Given the description of an element on the screen output the (x, y) to click on. 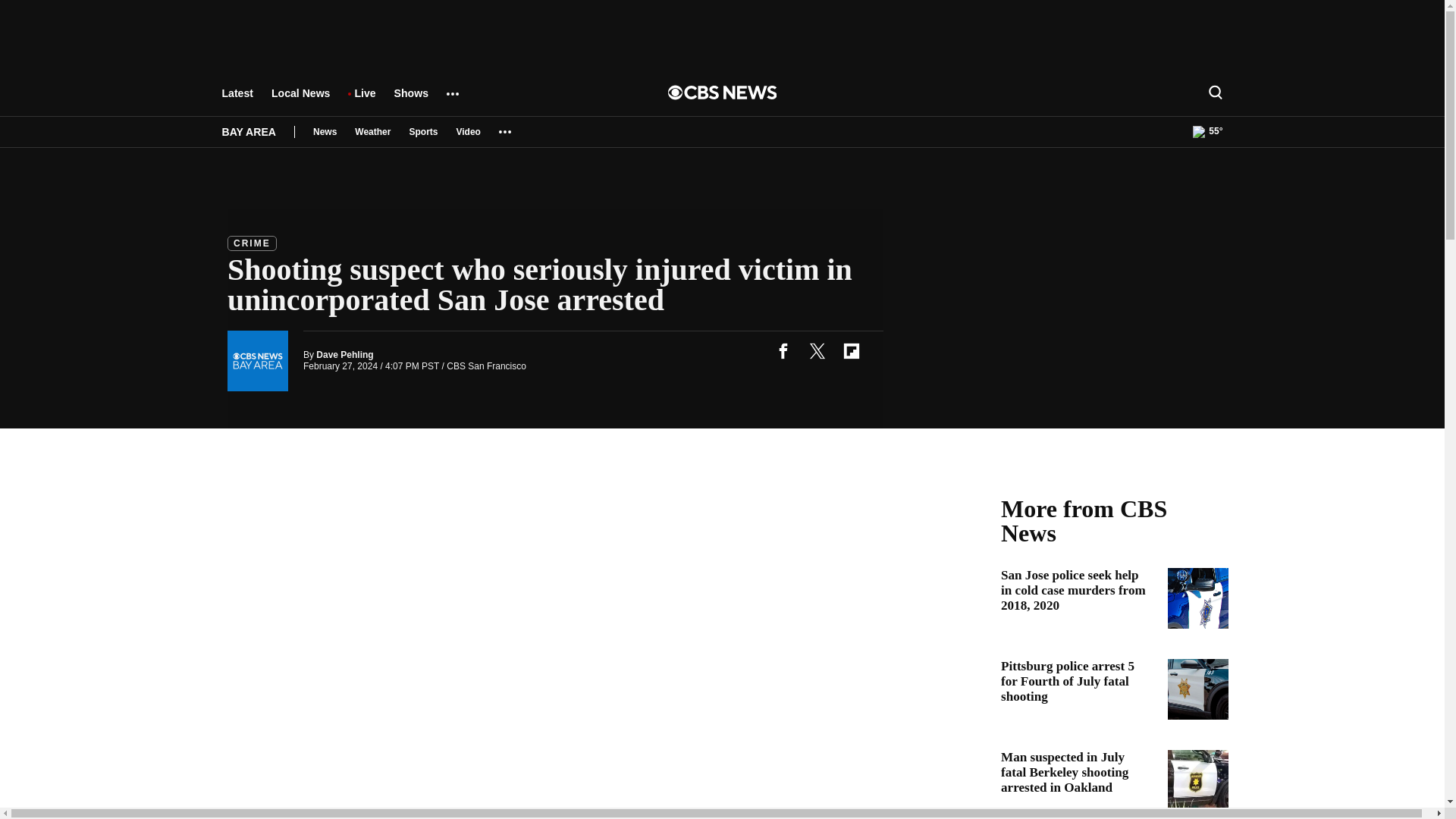
flipboard (850, 350)
Local News (300, 100)
Latest (236, 100)
twitter (816, 350)
facebook (782, 350)
